Given the description of an element on the screen output the (x, y) to click on. 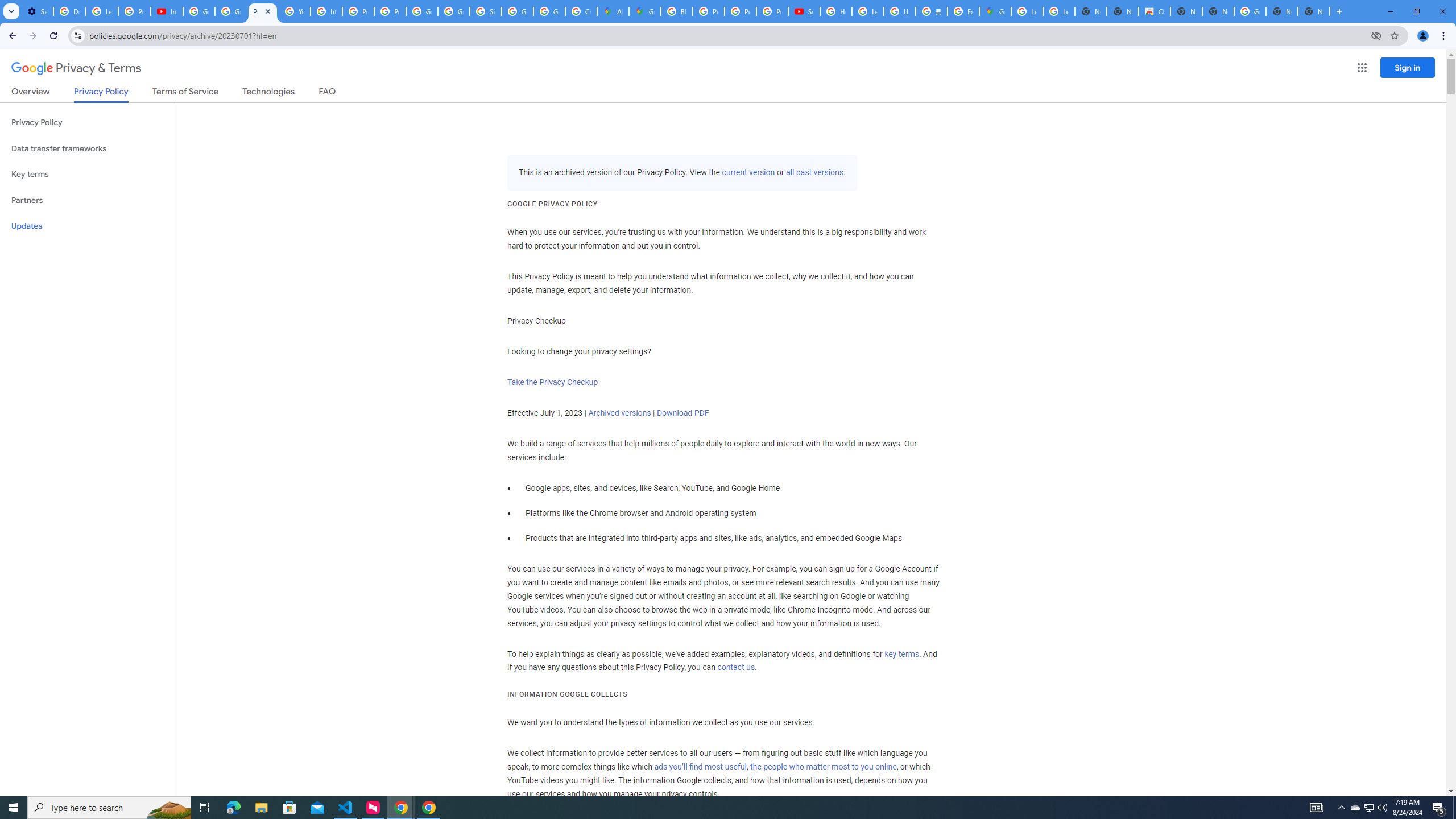
YouTube (294, 11)
Chrome Web Store (1154, 11)
Privacy Help Center - Policies Help (708, 11)
Google Account Help (230, 11)
Data transfer frameworks (86, 148)
Explore new street-level details - Google Maps Help (963, 11)
Archived versions (619, 412)
Sign in - Google Accounts (485, 11)
